Given the description of an element on the screen output the (x, y) to click on. 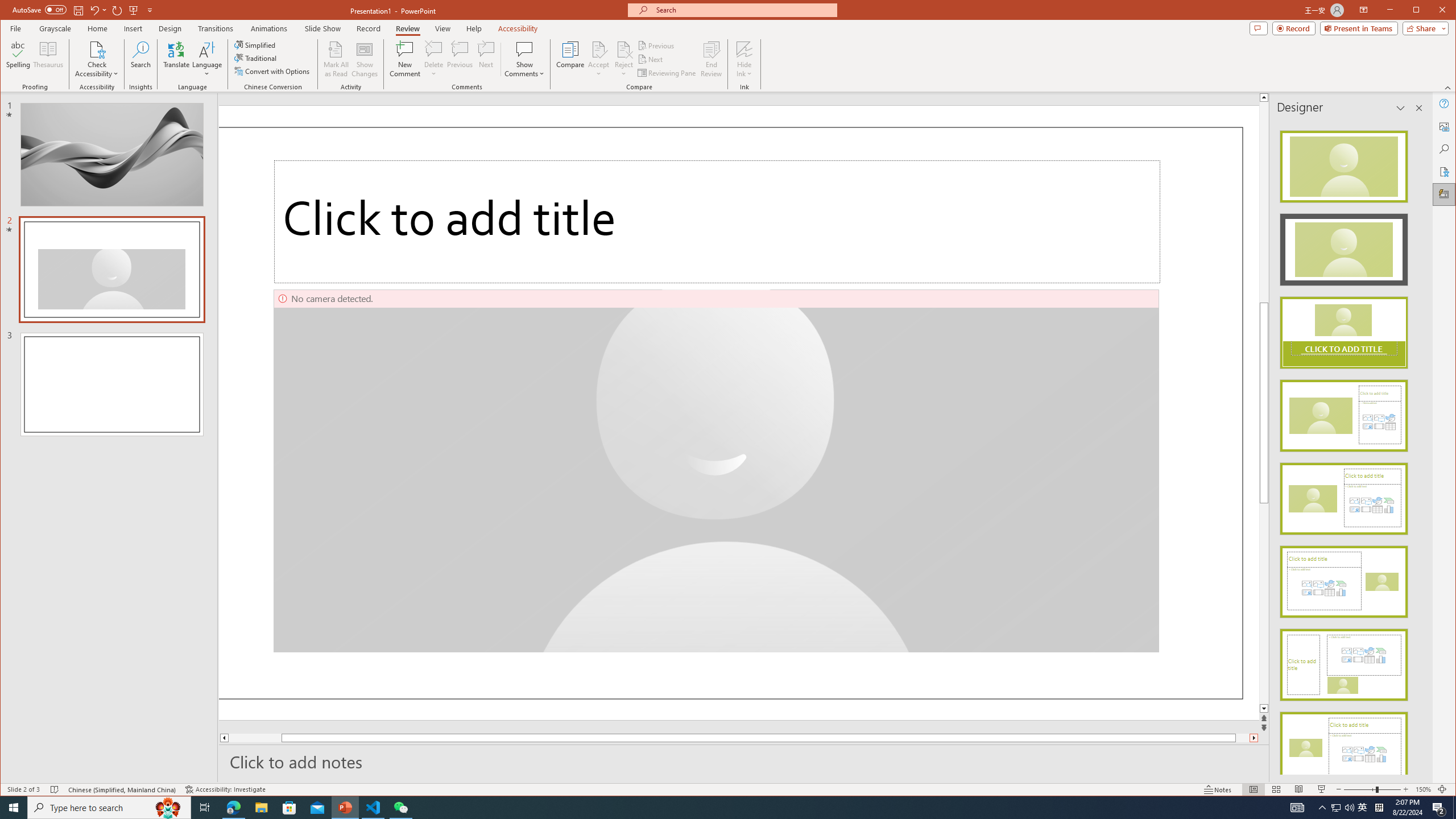
Thesaurus... (48, 59)
Reject (623, 59)
Language (207, 59)
Class: NetUIScrollBar (1417, 447)
Running applications (707, 807)
Hide Ink (744, 48)
